Given the description of an element on the screen output the (x, y) to click on. 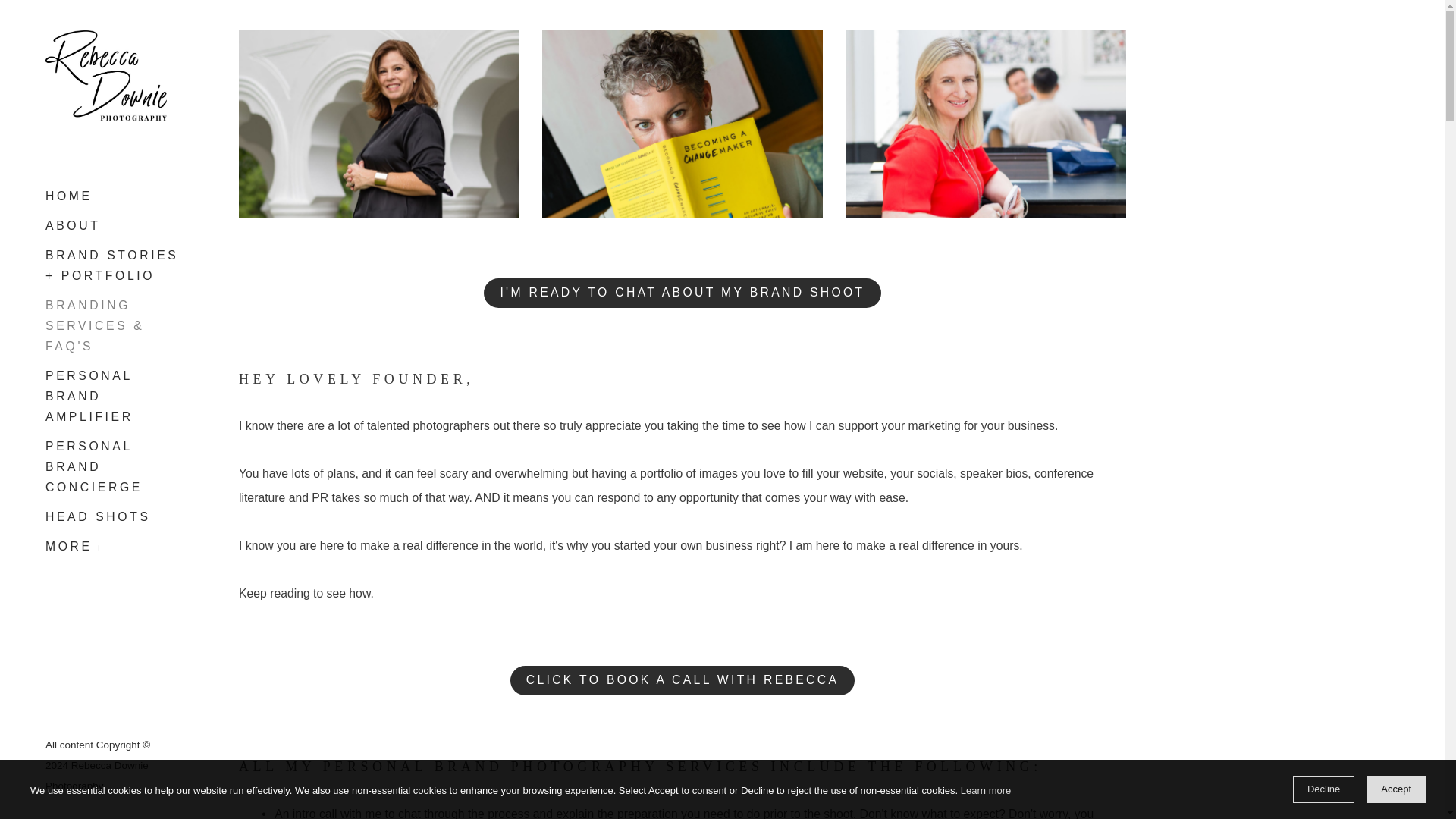
Accept (1396, 789)
HOME (69, 199)
Learn more (985, 790)
I'M READY TO CHAT ABOUT MY BRAND SHOOT (681, 292)
HEAD SHOTS (98, 516)
MORE (69, 542)
Decline (1323, 789)
CLICK TO BOOK A CALL WITH REBECCA (683, 680)
PERSONAL BRAND AMPLIFIER (89, 395)
ABOUT (72, 225)
PERSONAL BRAND CONCIERGE (93, 466)
